Given the description of an element on the screen output the (x, y) to click on. 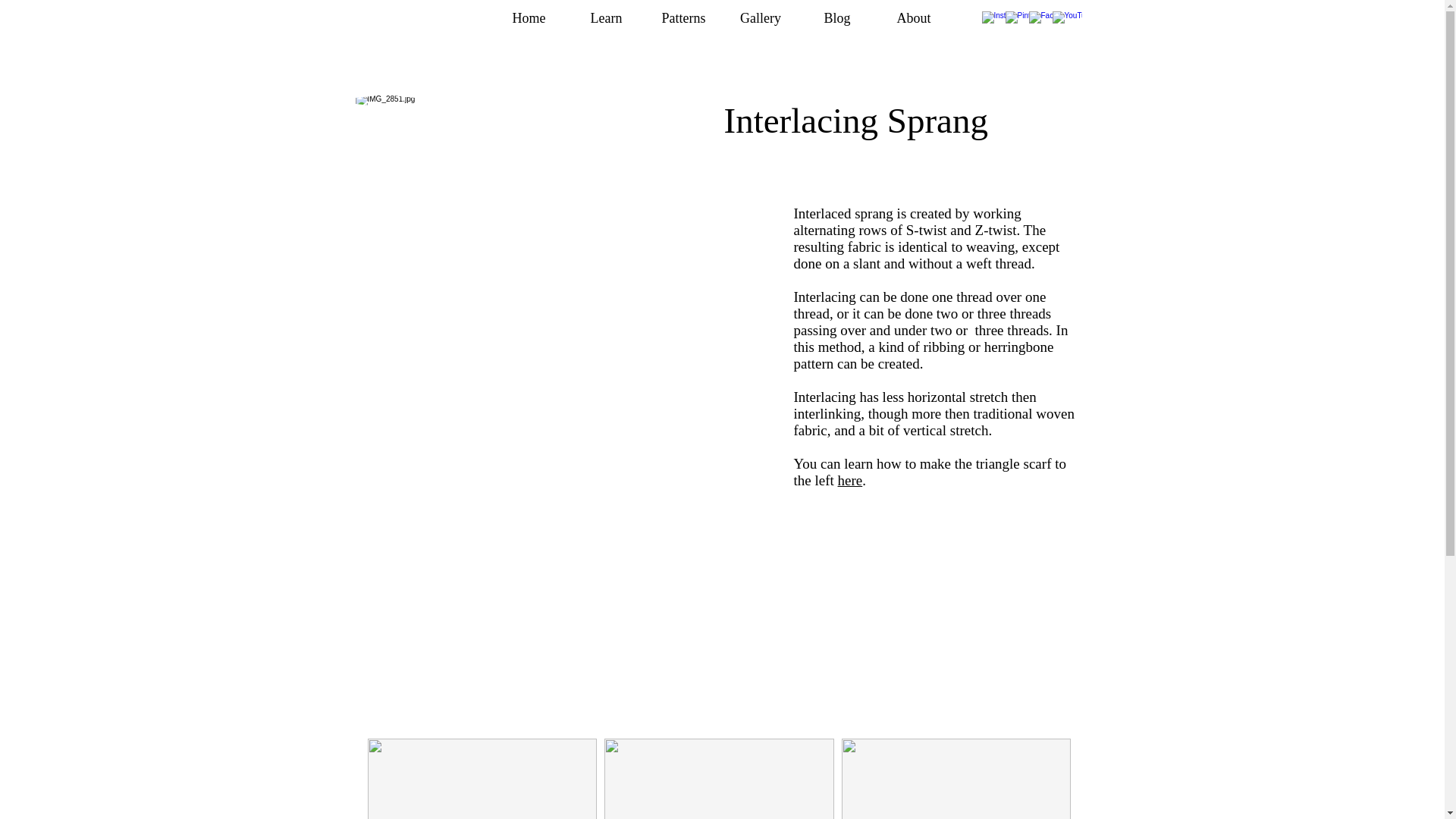
Blog (837, 18)
About (913, 18)
Patterns (683, 18)
Home (528, 18)
here (850, 480)
Gallery (759, 18)
